Given the description of an element on the screen output the (x, y) to click on. 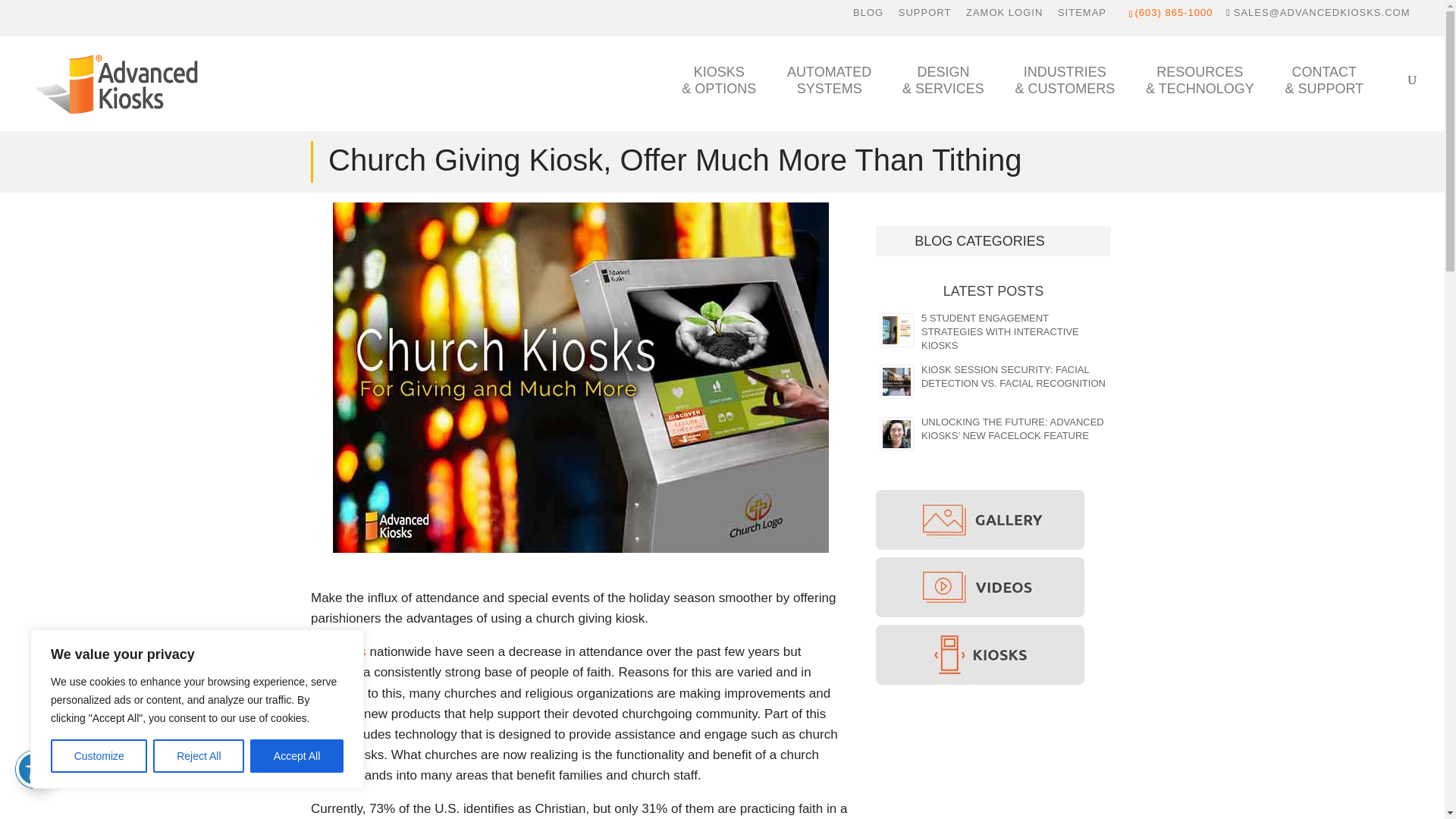
Reject All (198, 756)
SITEMAP (1082, 16)
SUPPORT (836, 97)
Accept All (925, 16)
Customize (296, 756)
BLOG (98, 756)
ZAMOK LOGIN (868, 16)
